Given the description of an element on the screen output the (x, y) to click on. 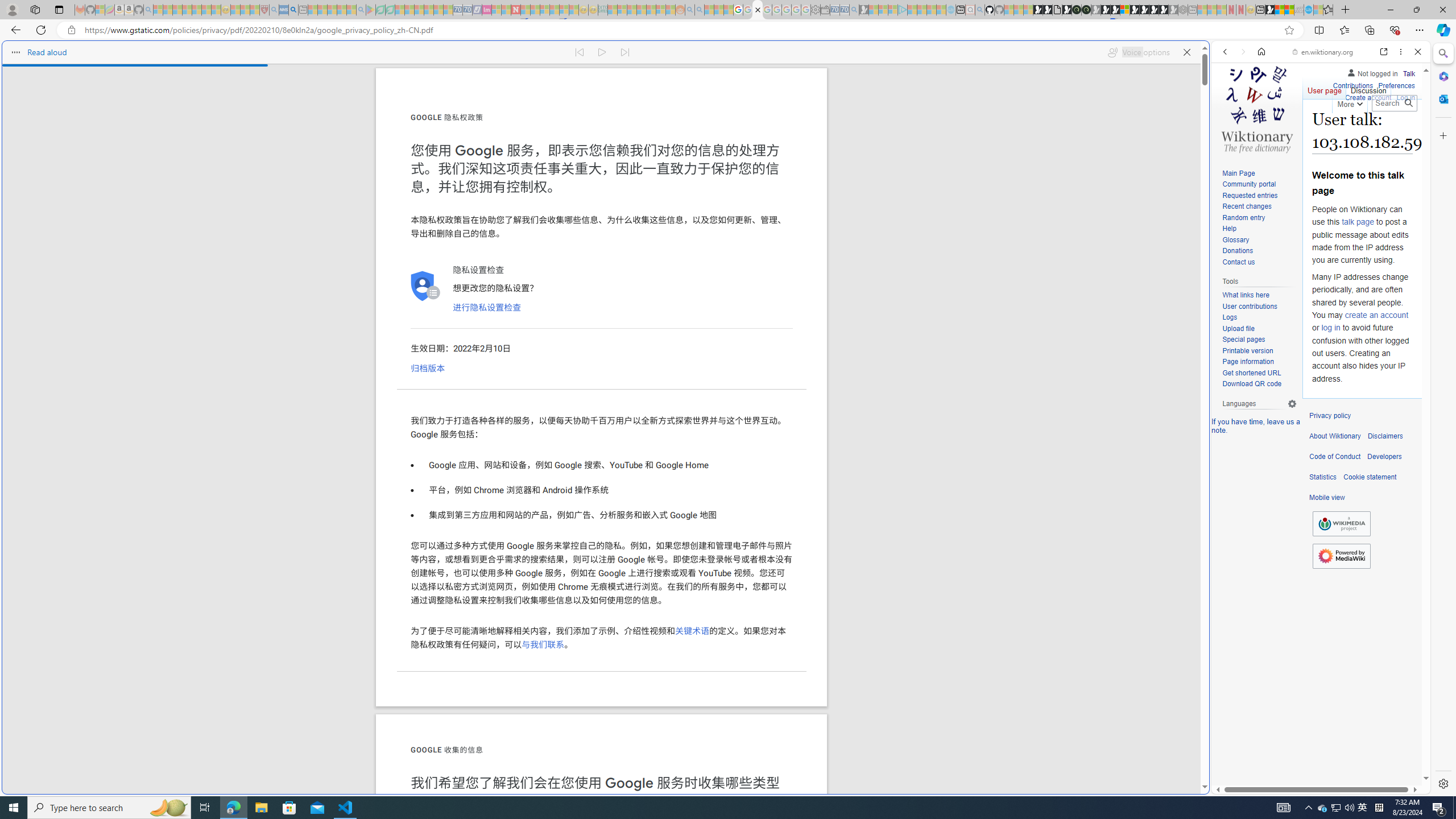
Random entry (1259, 218)
Sign in to your account (1124, 9)
Wikimedia Foundation (1341, 524)
Cookie statement (1369, 477)
talk page (1357, 221)
Community portal (1248, 184)
